Given the description of an element on the screen output the (x, y) to click on. 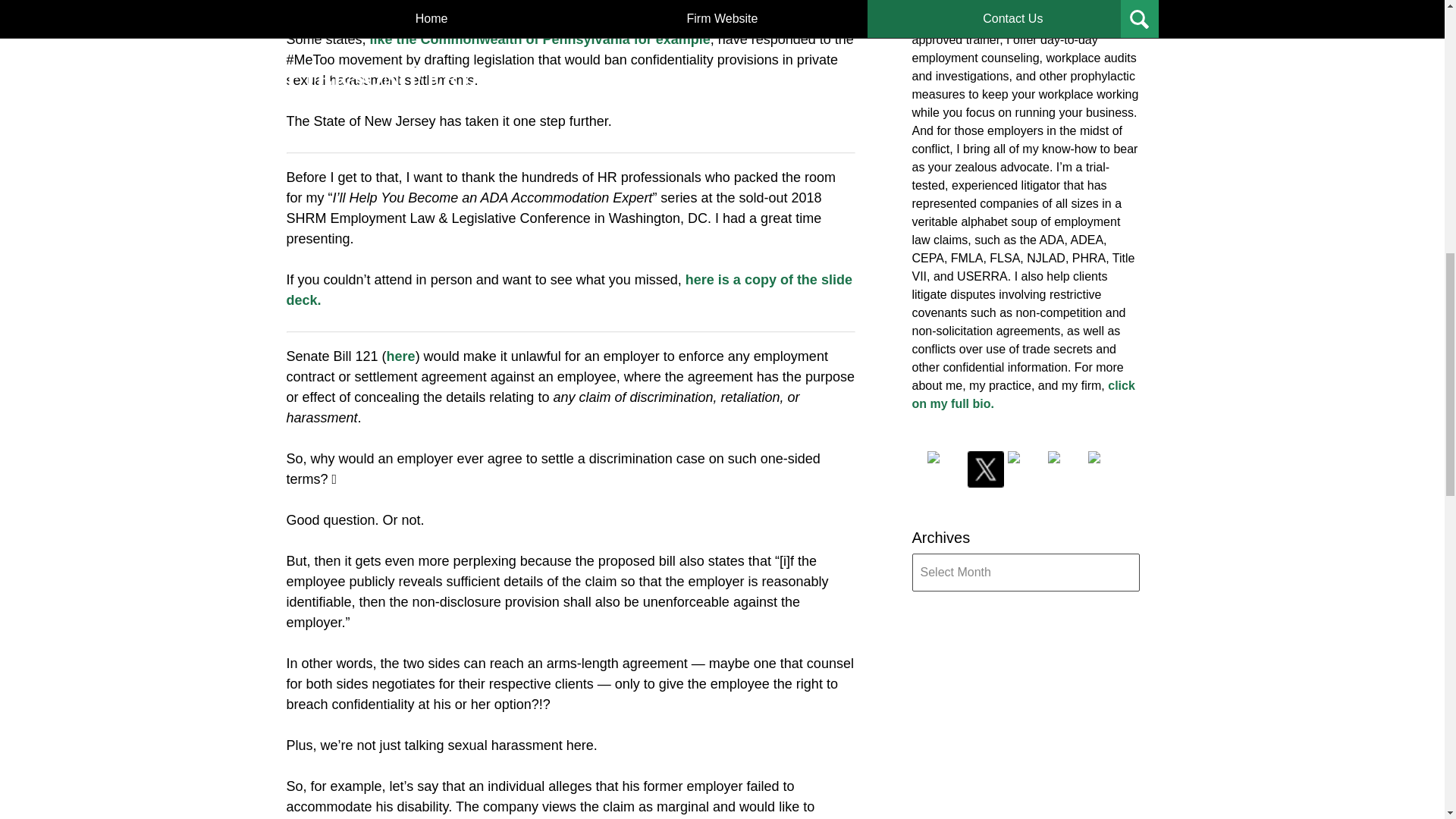
here (400, 355)
LinkedIn (1025, 469)
Facebook (944, 469)
Twitter (986, 469)
here is a copy of the slide deck. (568, 289)
like the Commonwealth of Pennsylvania for example (539, 38)
click on my full bio. (1022, 394)
Feed (1105, 469)
Justia (1066, 469)
